Given the description of an element on the screen output the (x, y) to click on. 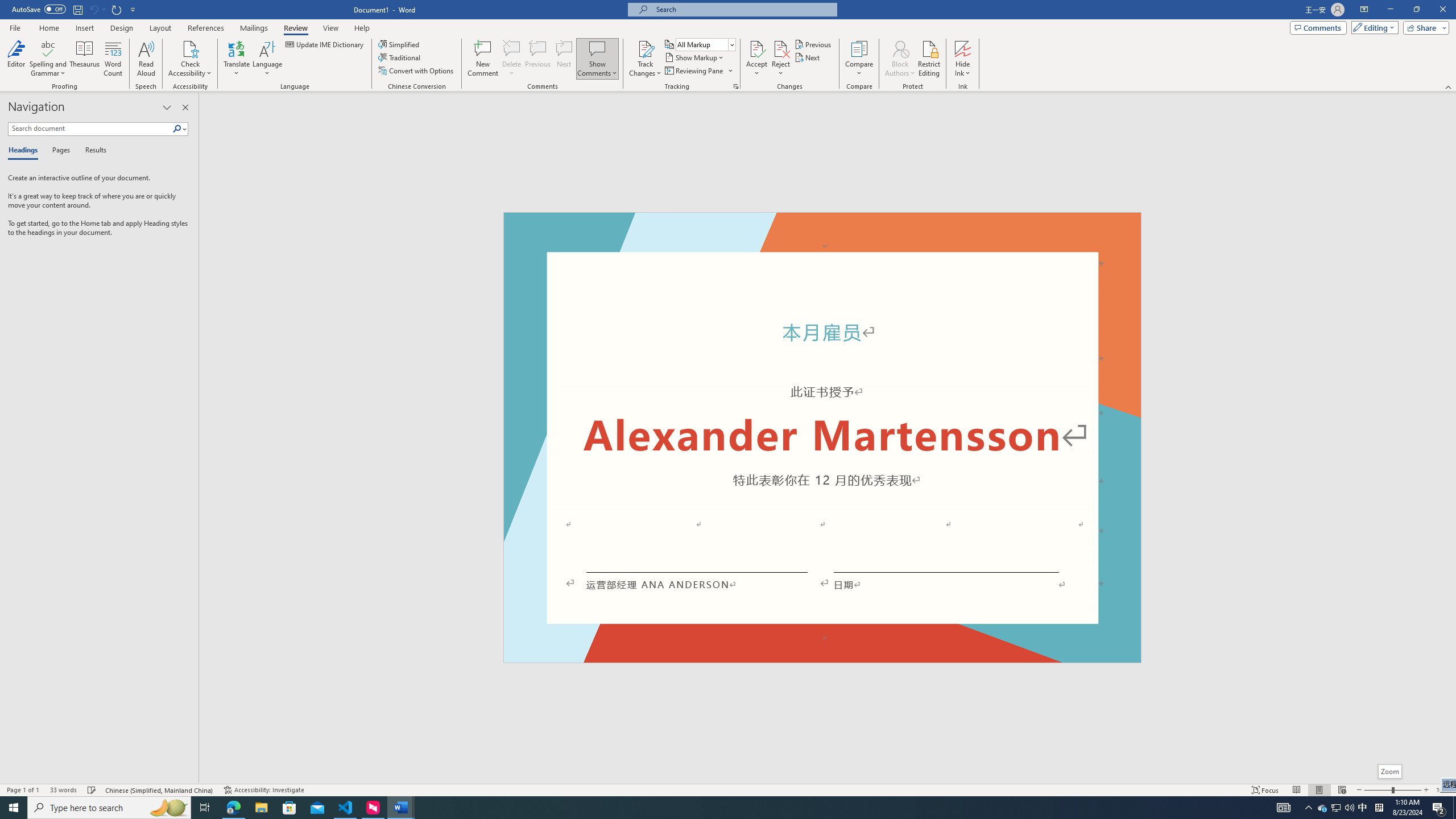
Check Accessibility (189, 58)
Show Markup (695, 56)
Delete (511, 48)
Compare (859, 58)
Convert with Options... (417, 69)
Delete (511, 58)
Decorative (822, 437)
Reviewing Pane (698, 69)
